Given the description of an element on the screen output the (x, y) to click on. 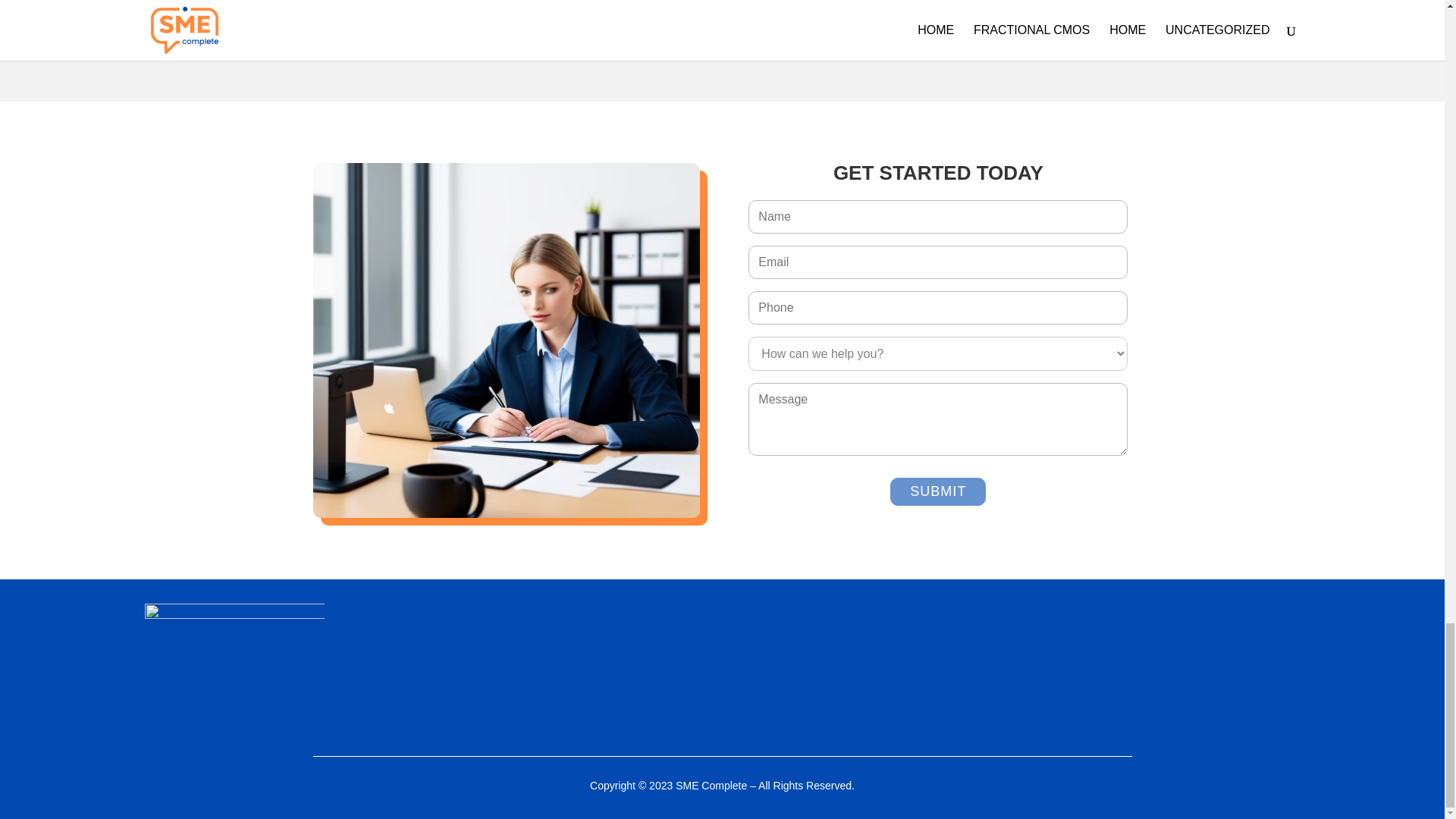
logo-white (234, 669)
Submit (937, 491)
Submit (937, 491)
